Given the description of an element on the screen output the (x, y) to click on. 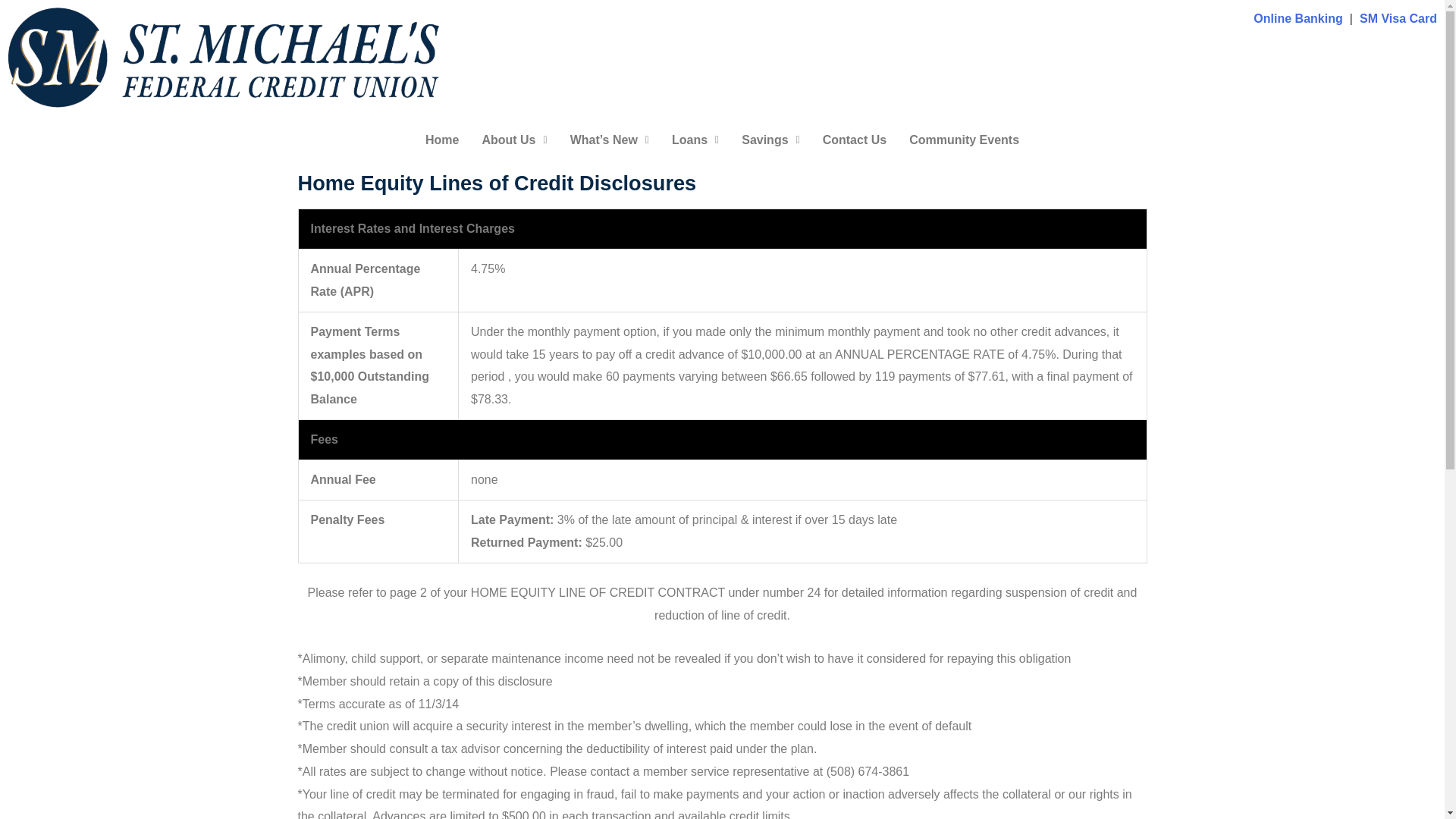
Online Banking  (1299, 18)
Community Events (964, 140)
Home (441, 140)
Savings (770, 140)
Loans (695, 140)
SM Visa Card (1398, 18)
Contact Us (854, 140)
About Us (513, 140)
